Given the description of an element on the screen output the (x, y) to click on. 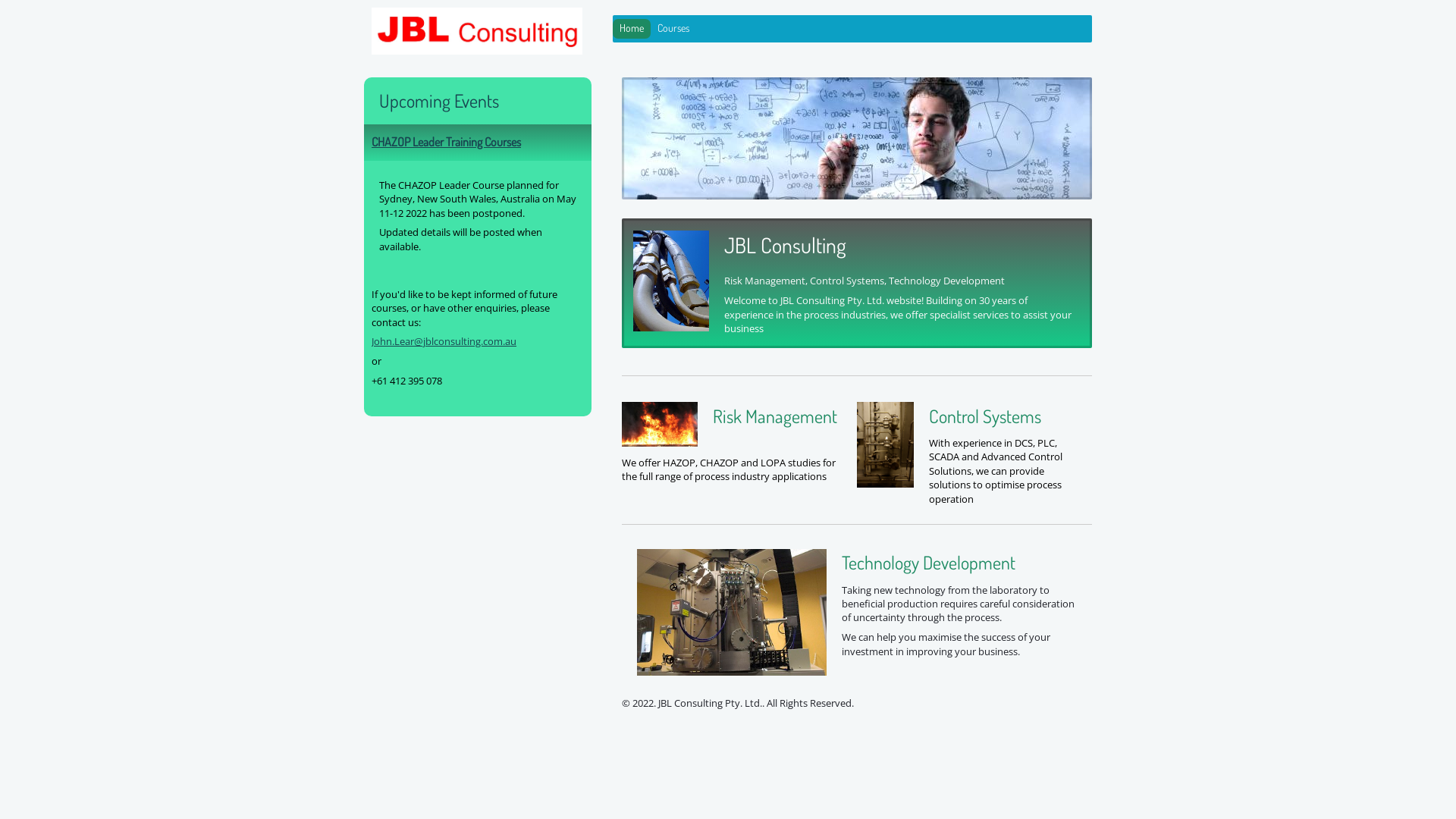
John.Lear@jblconsulting.com.au Element type: text (443, 341)
Home Element type: text (631, 28)
CHAZOP Leader Training Courses Element type: text (445, 141)
Courses Element type: text (673, 28)
